Given the description of an element on the screen output the (x, y) to click on. 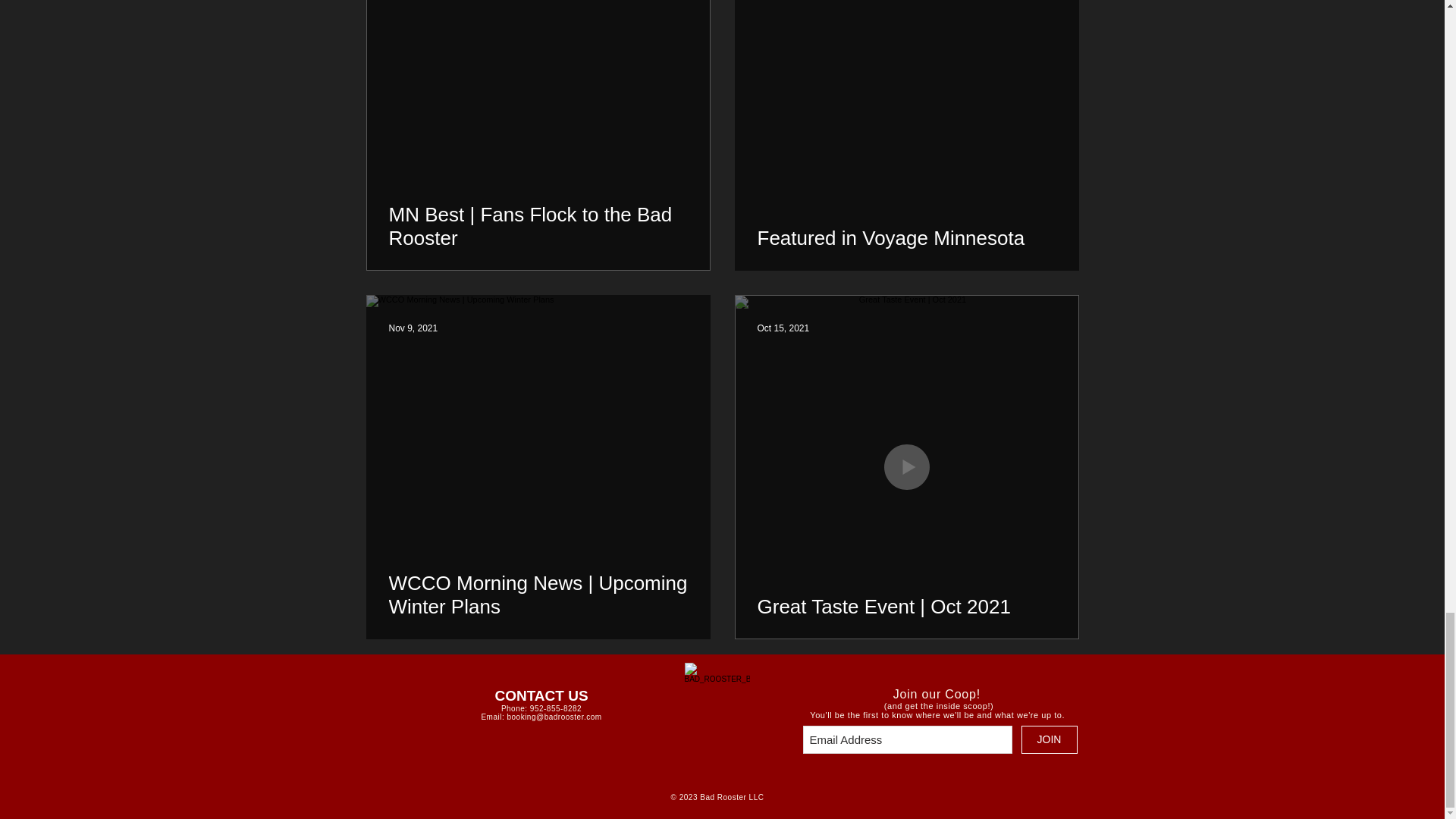
JOIN (1048, 739)
Oct 15, 2021 (783, 327)
Featured in Voyage Minnesota (906, 238)
Nov 9, 2021 (413, 327)
